Given the description of an element on the screen output the (x, y) to click on. 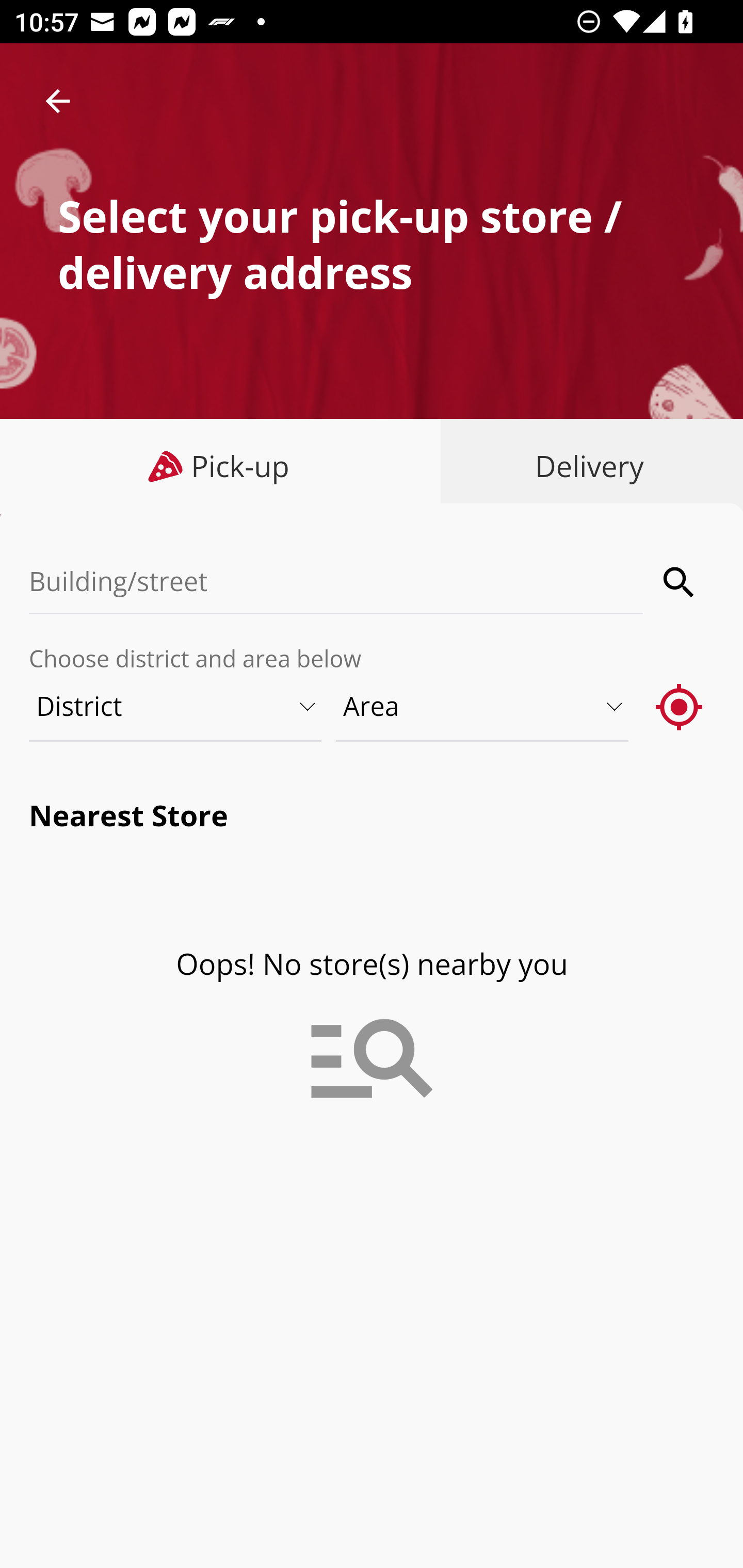
arrow_back (58, 100)
Pick-up (221, 466)
Delivery (585, 466)
search (679, 582)
gps_fixed (679, 706)
District (175, 706)
Area (482, 706)
